Given the description of an element on the screen output the (x, y) to click on. 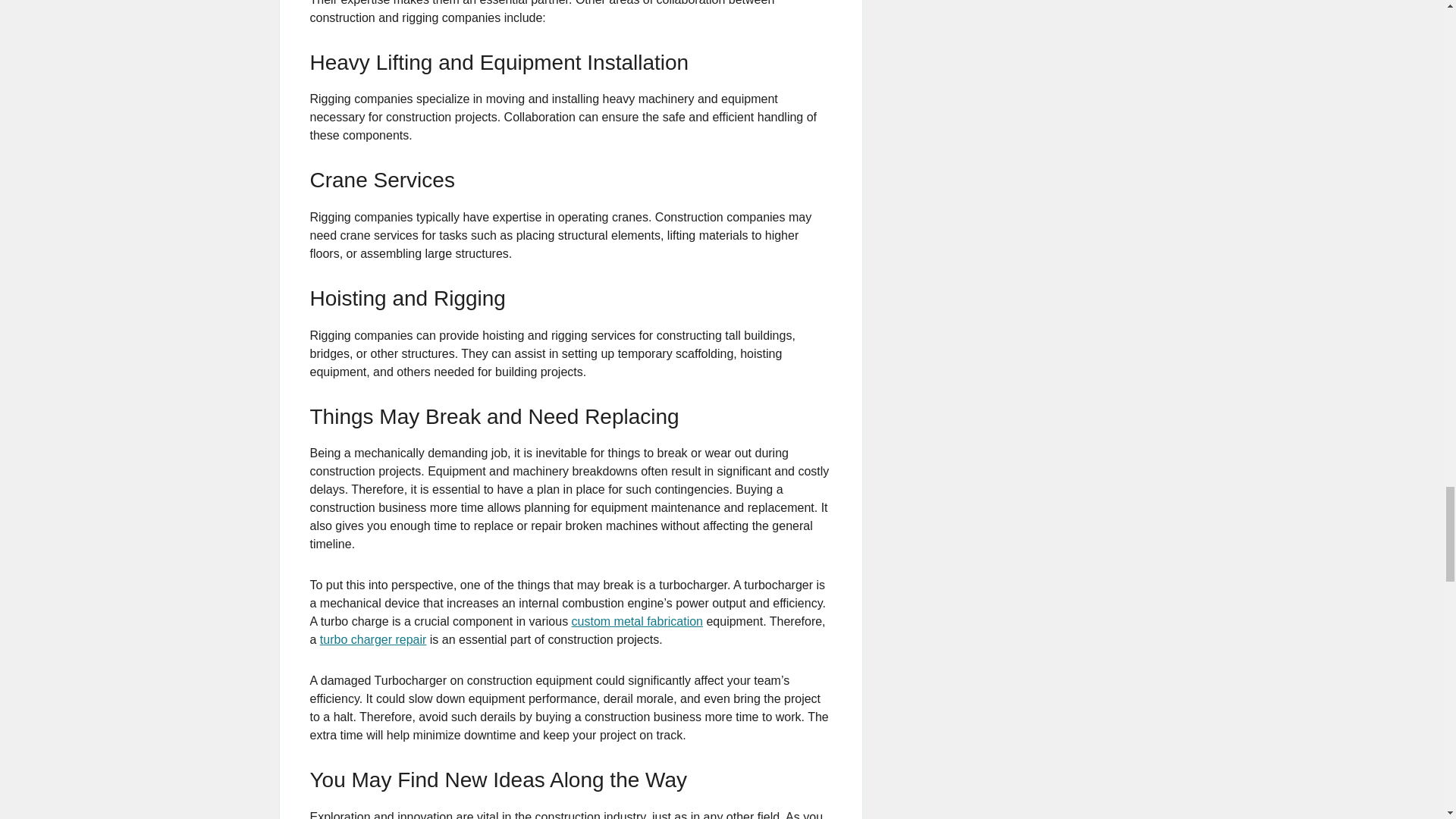
turbo charger repair (373, 639)
custom metal fabrication (637, 621)
